Given the description of an element on the screen output the (x, y) to click on. 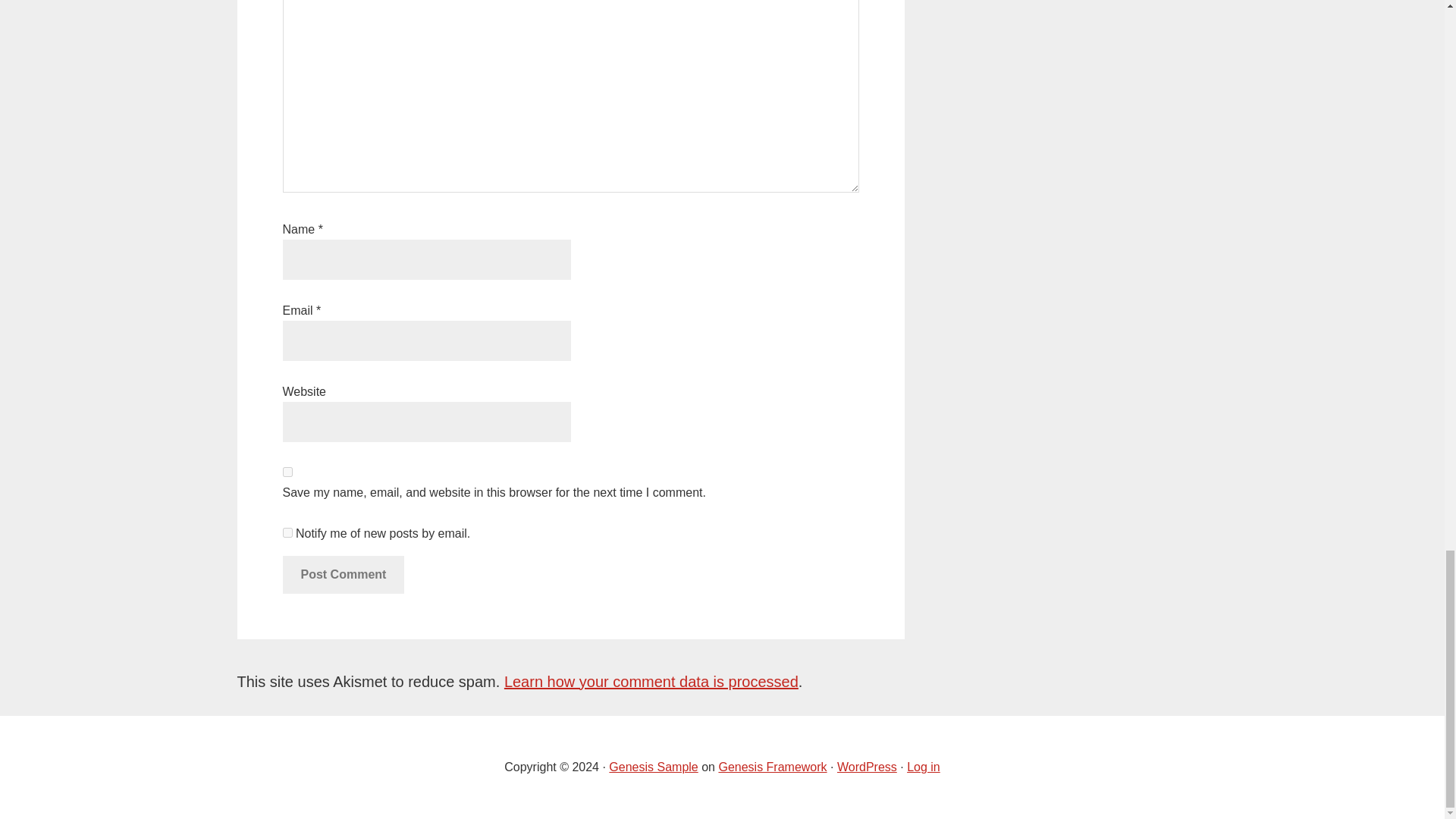
Genesis Framework (772, 766)
yes (287, 471)
WordPress (866, 766)
Genesis Sample (652, 766)
subscribe (287, 532)
Post Comment (343, 574)
Log in (923, 766)
Learn how your comment data is processed (650, 681)
Post Comment (343, 574)
